Given the description of an element on the screen output the (x, y) to click on. 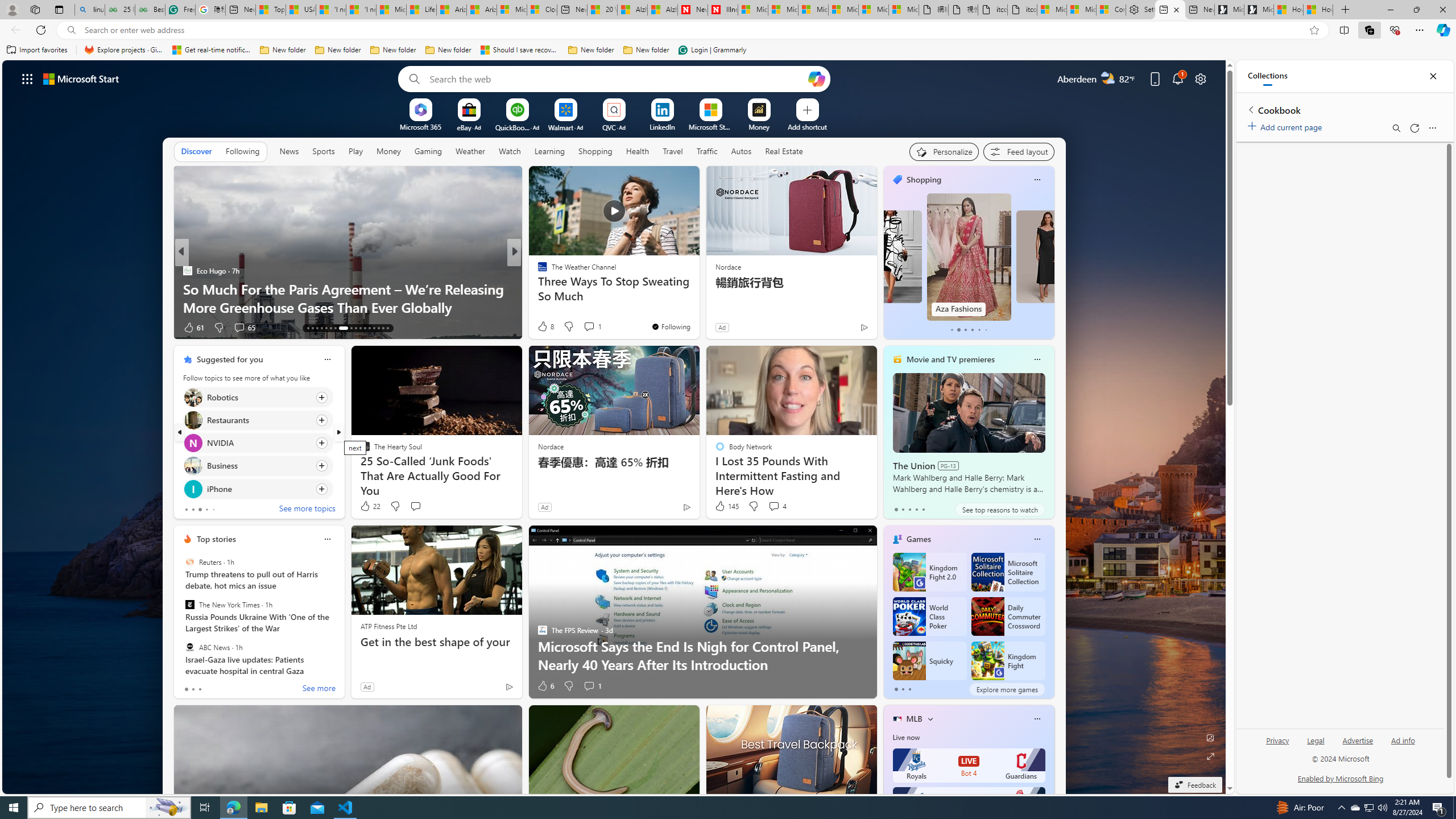
tab-3 (916, 509)
LinkedIn (662, 126)
USA TODAY - MSN (300, 9)
Microsoft start (81, 78)
View comments 7 Comment (592, 327)
next (338, 432)
Business (192, 466)
Personalize your feed" (943, 151)
Restaurants (192, 419)
AutomationID: tab-27 (378, 328)
Eco Hugo (187, 270)
